Given the description of an element on the screen output the (x, y) to click on. 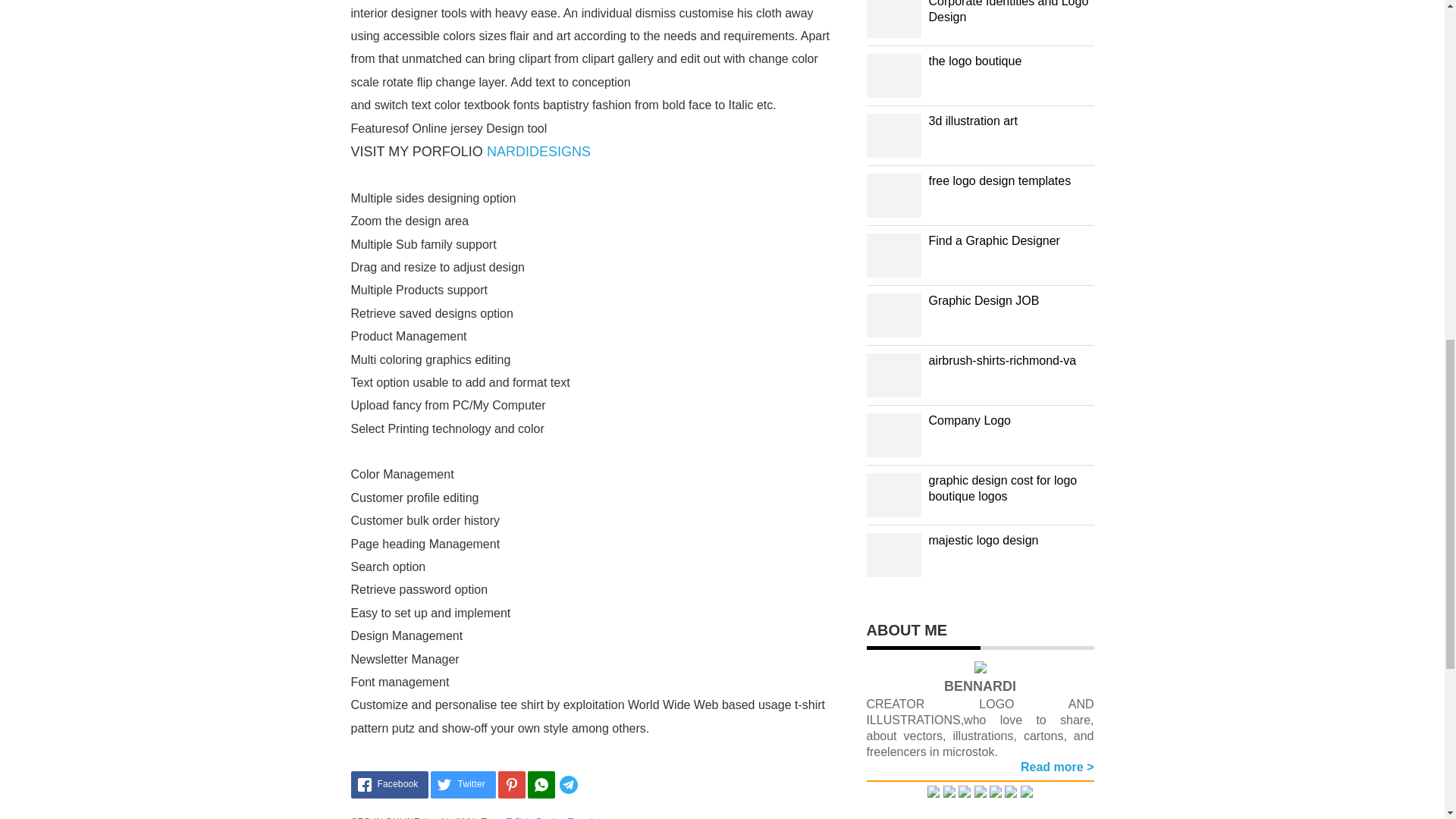
Telegram (590, 784)
Share to Telegram (590, 784)
NARDIDESIGNS (538, 151)
Facebook (389, 784)
3d illustration art (972, 120)
Find a Graphic Designer (993, 240)
T Shirt Design Template (555, 817)
free logo design templates (999, 180)
Twitter (462, 784)
Follow Me (964, 793)
T Shirt Design Template (555, 817)
Follow Me (949, 793)
Corporate Identities and Logo Design (1007, 11)
the logo boutique (975, 60)
Share on Pinterest (511, 784)
